Given the description of an element on the screen output the (x, y) to click on. 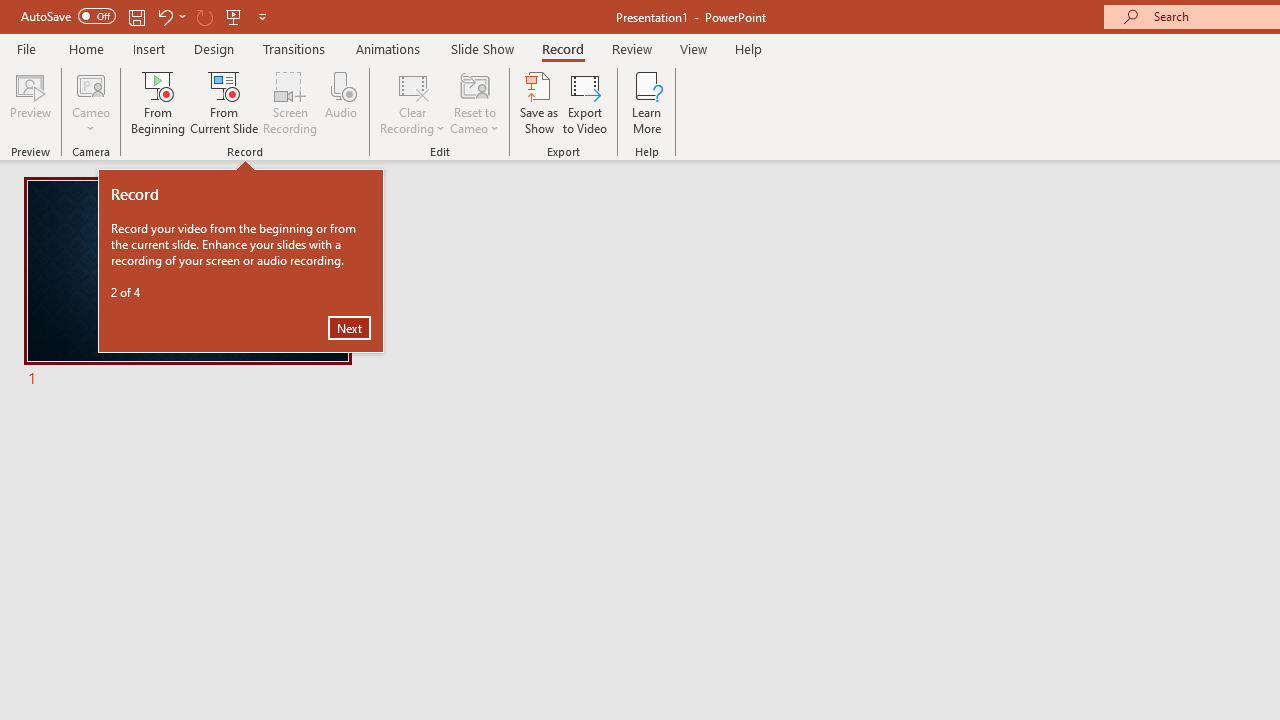
Audio (341, 102)
Cameo (91, 102)
Learn More (646, 102)
Cameo (91, 84)
